Given the description of an element on the screen output the (x, y) to click on. 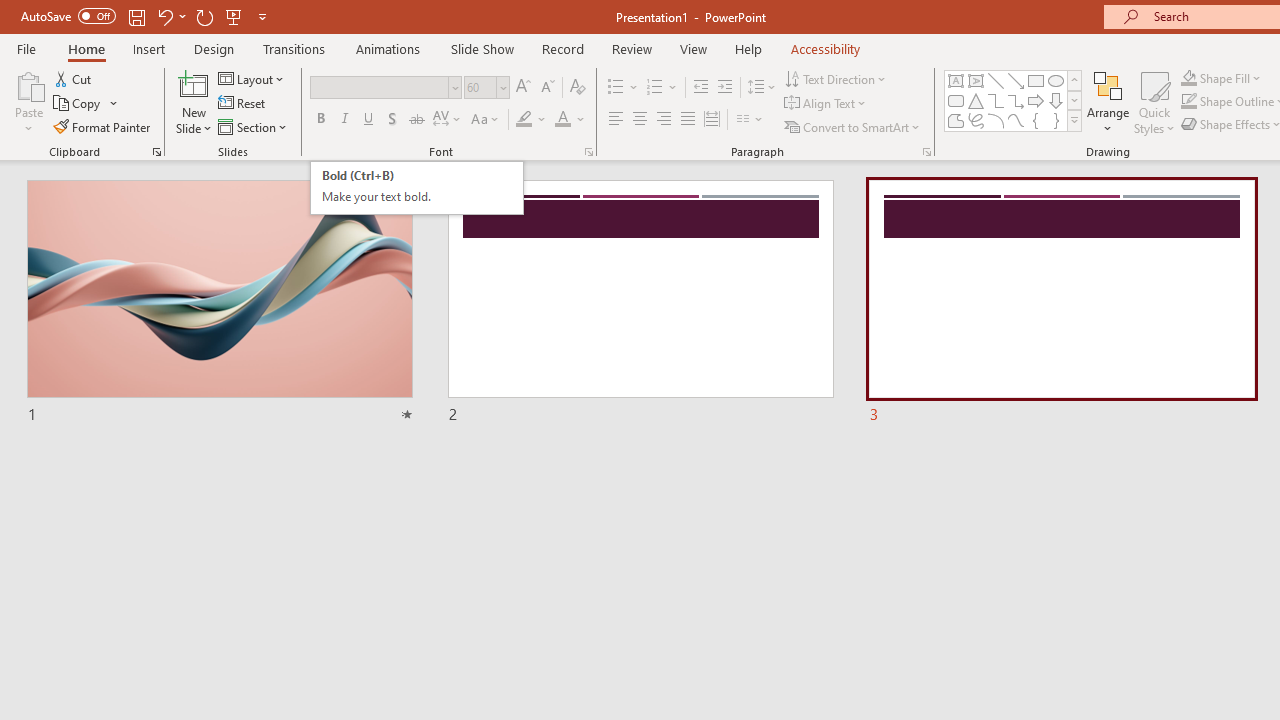
Accessibility (825, 48)
Connector: Elbow (995, 100)
Justify (687, 119)
Freeform: Shape (955, 120)
From Beginning (234, 15)
Redo (204, 15)
Columns (750, 119)
Bullets (616, 87)
Customize Quick Access Toolbar (262, 15)
Quick Access Toolbar (145, 16)
Increase Indent (725, 87)
Left Brace (1035, 120)
Numbering (661, 87)
Undo (164, 15)
Cut (73, 78)
